Given the description of an element on the screen output the (x, y) to click on. 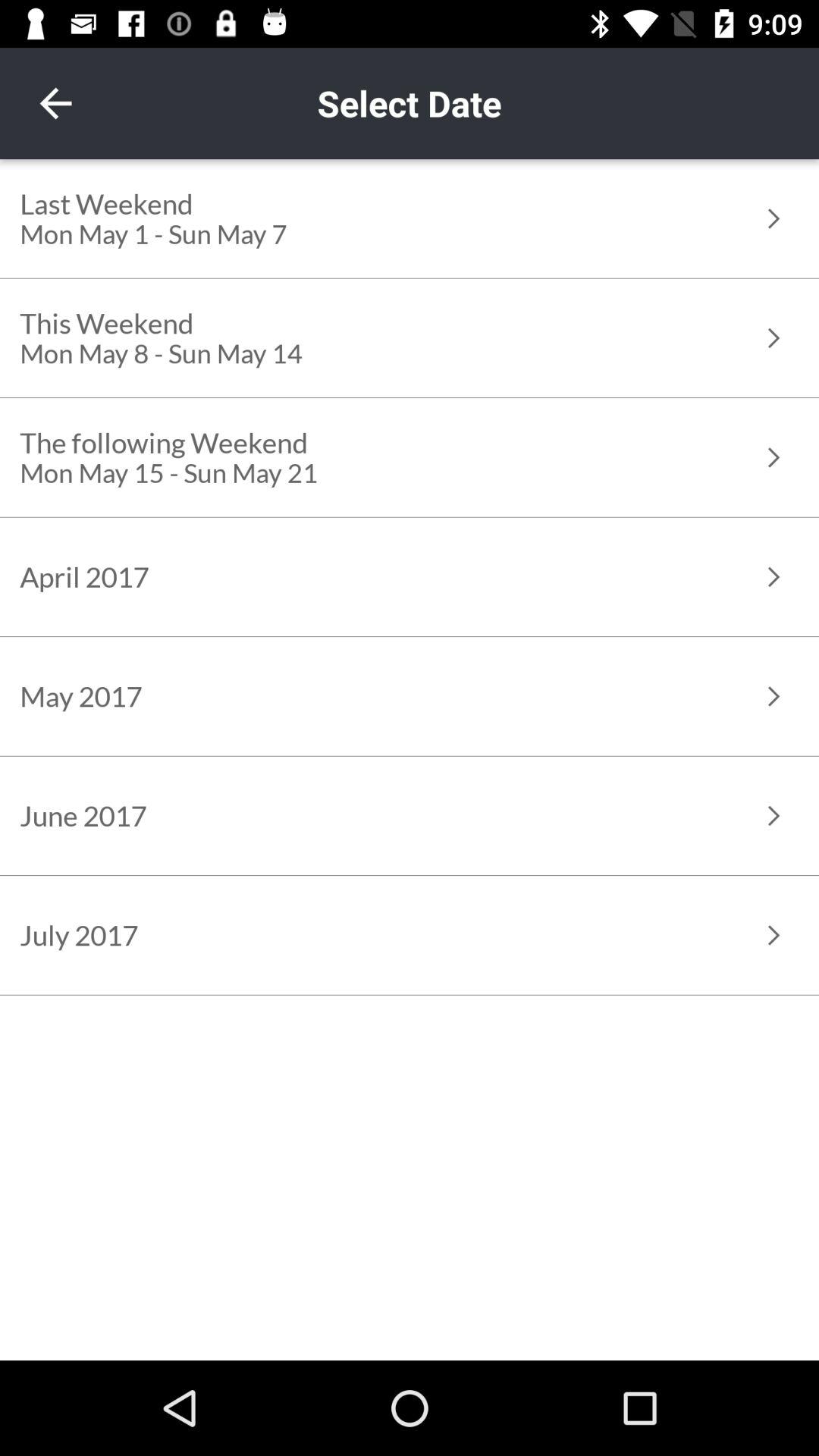
click the item to the left of the select date item (55, 103)
